Given the description of an element on the screen output the (x, y) to click on. 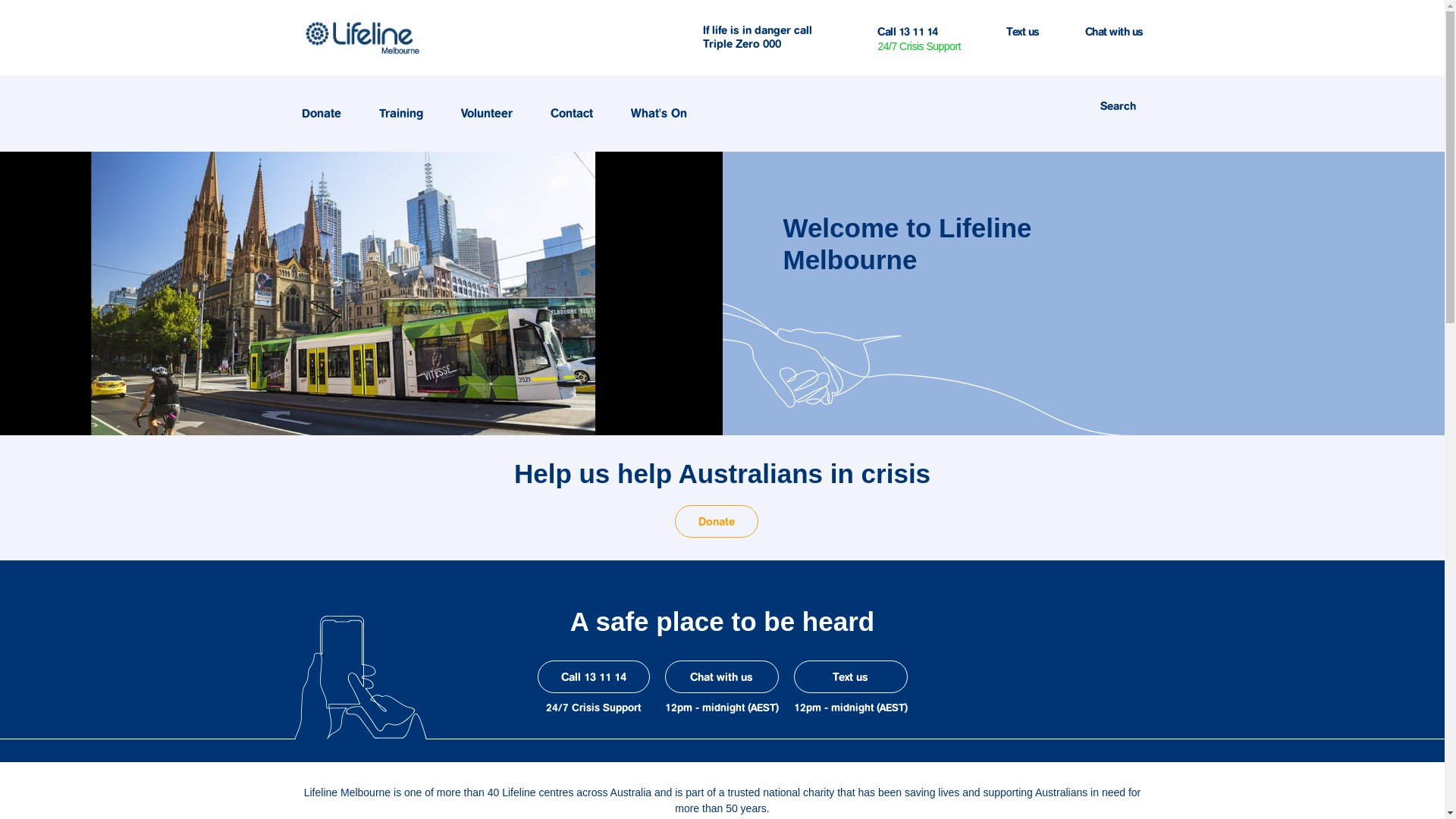
000 Element type: text (771, 44)
Chat with us Element type: text (1113, 32)
Chat with us Element type: text (721, 676)
Search Element type: text (1117, 104)
Text us Element type: text (849, 676)
What's On Element type: text (665, 113)
Volunteer Element type: text (493, 113)
Training Element type: text (407, 113)
Donate Element type: text (716, 521)
Text us Element type: text (1022, 32)
Call 13 11 14 Element type: text (592, 676)
Contact Element type: text (578, 113)
Donate Element type: text (328, 113)
Call 13 11 14
24/7 Crisis Support Element type: text (918, 38)
